Given the description of an element on the screen output the (x, y) to click on. 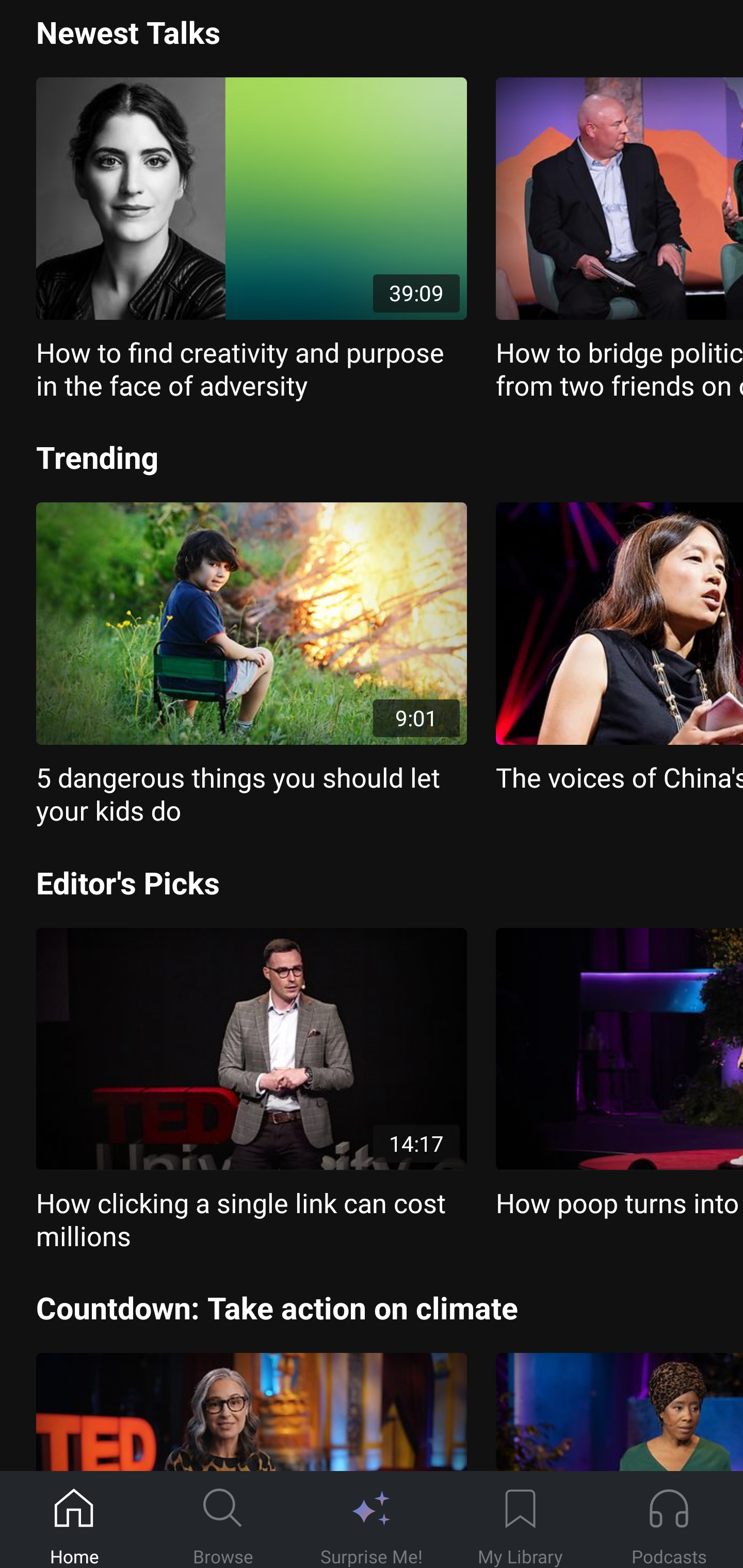
The voices of China's workers (619, 647)
14:17 How clicking a single link can cost millions (251, 1090)
How poop turns into forests (619, 1073)
Home (74, 1520)
Browse (222, 1520)
Surprise Me! (371, 1520)
My Library (519, 1520)
Podcasts (668, 1520)
